Given the description of an element on the screen output the (x, y) to click on. 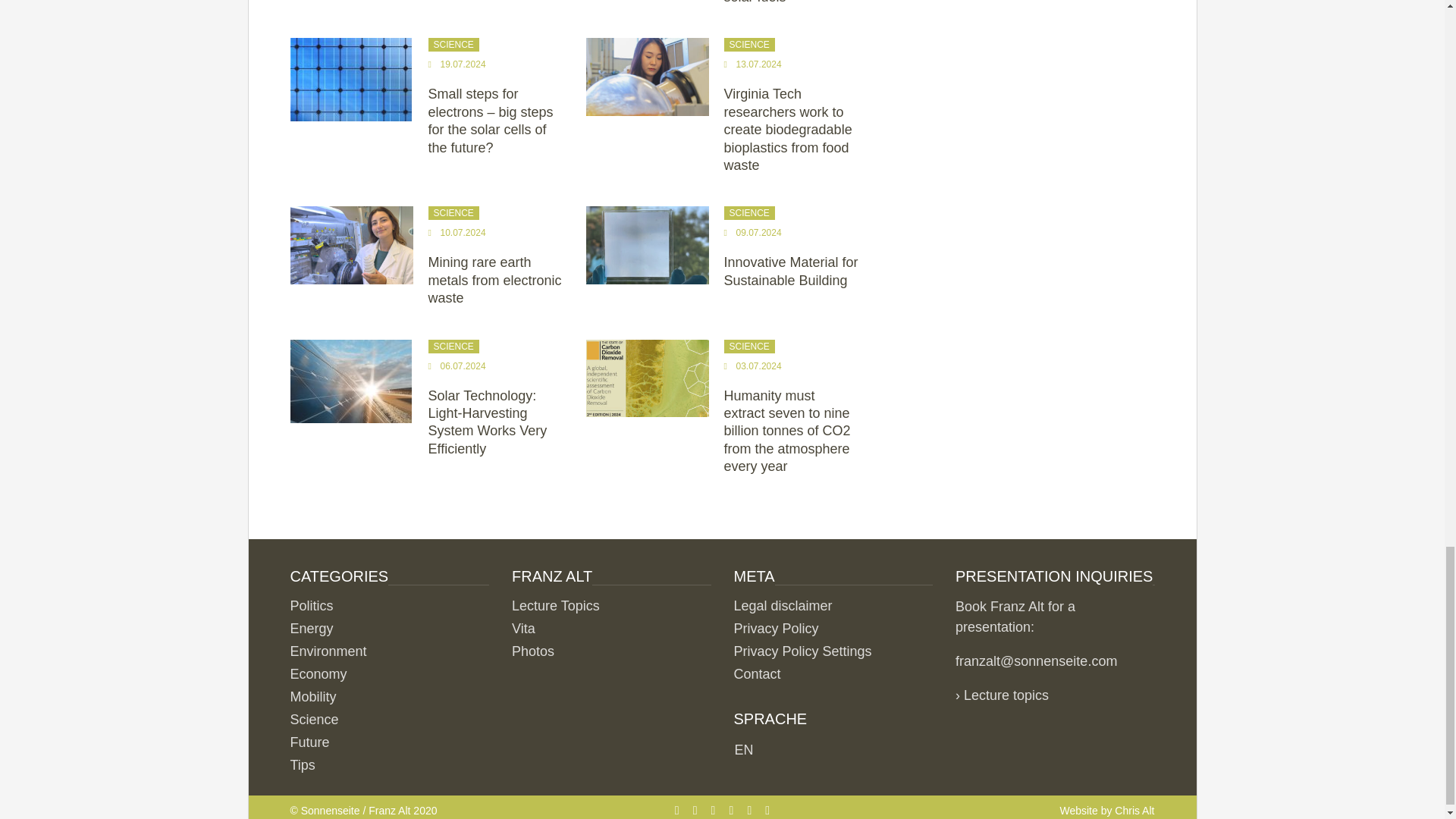
Chris Alt (1134, 810)
